Given the description of an element on the screen output the (x, y) to click on. 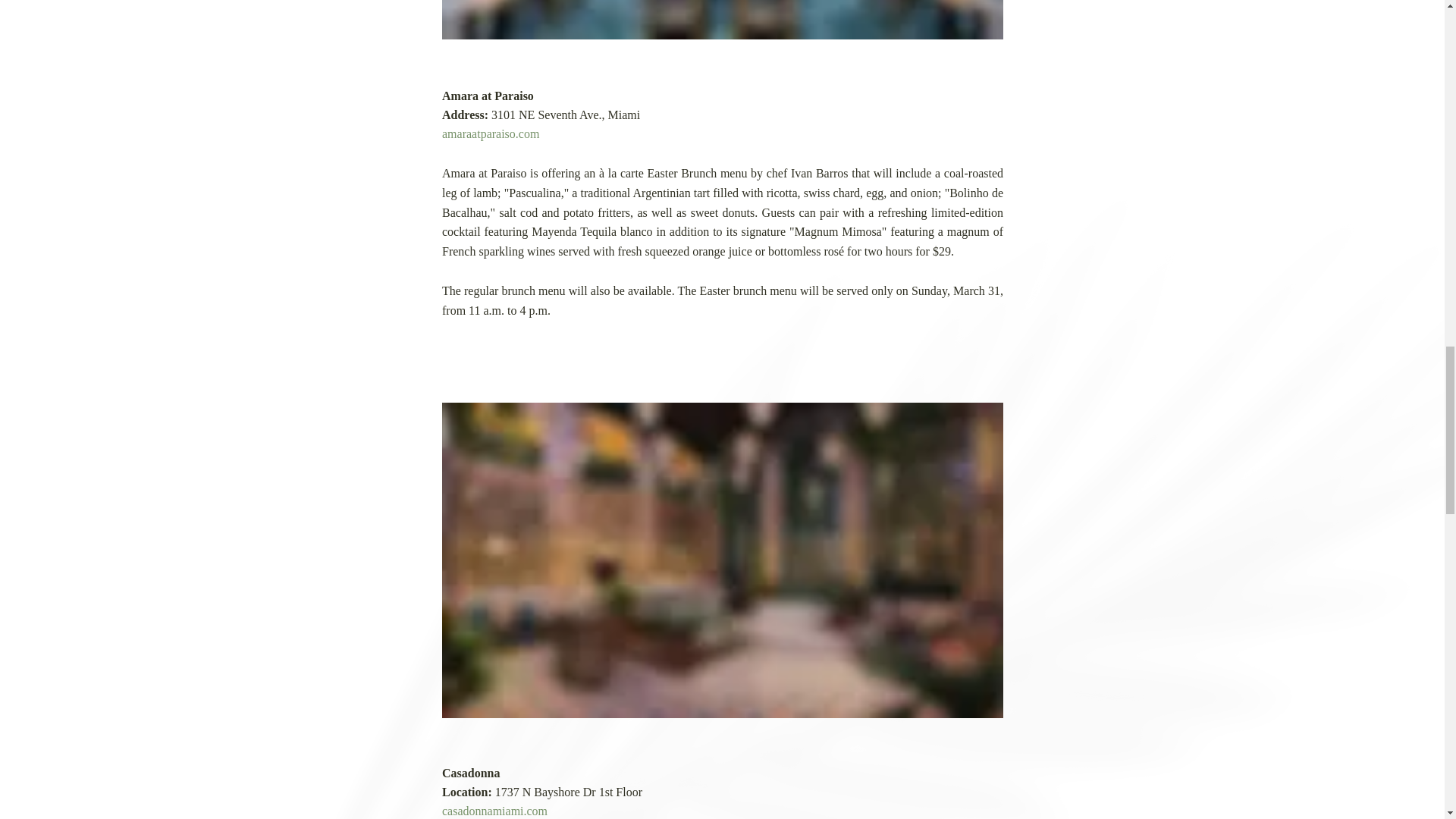
amaraatparaiso.com (489, 133)
casadonnamiami.com (494, 810)
